Given the description of an element on the screen output the (x, y) to click on. 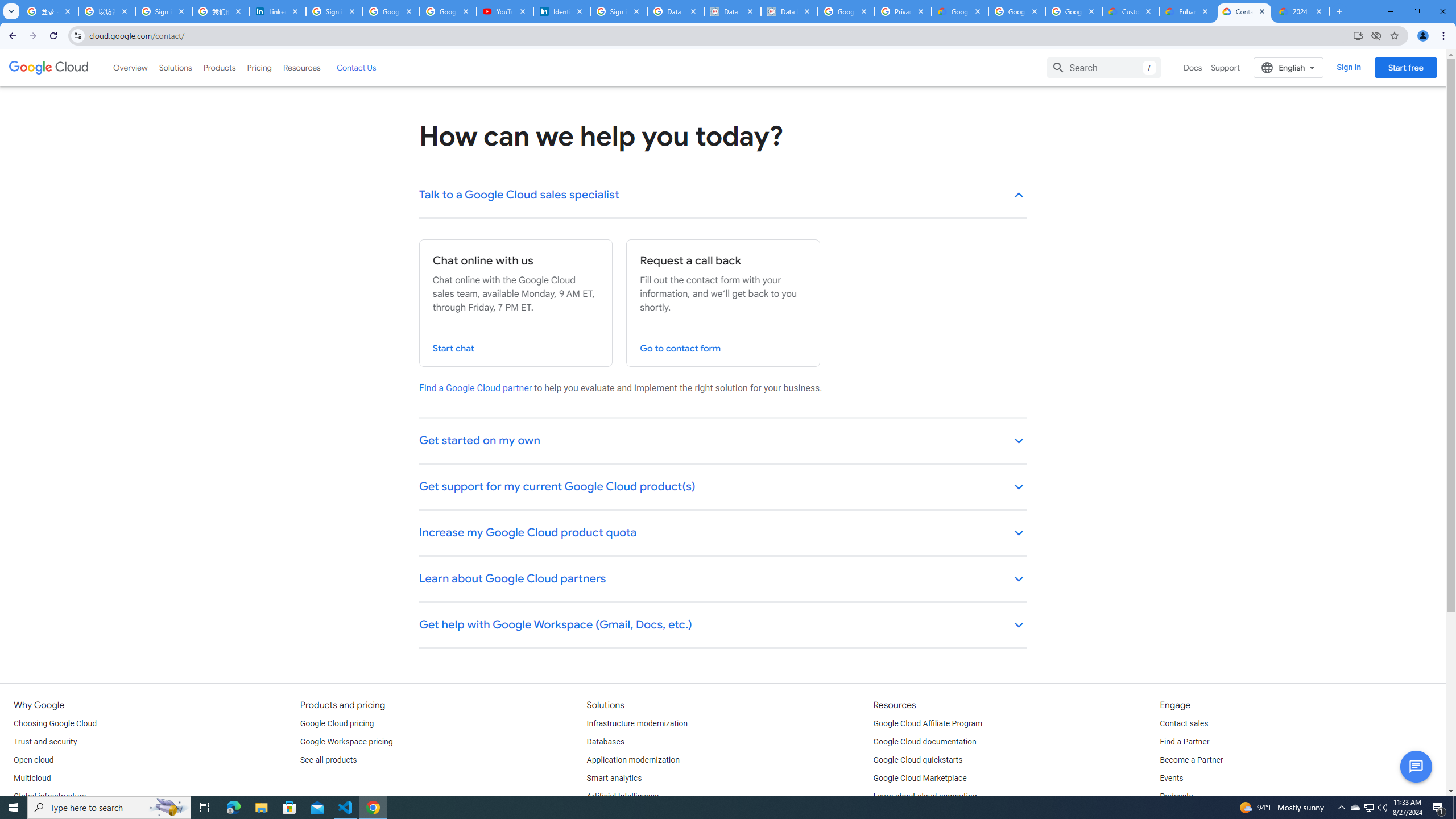
Increase my Google Cloud product quota keyboard_arrow_down (723, 533)
Sign in - Google Accounts (163, 11)
English (1288, 67)
Get started on my own keyboard_arrow_down (723, 441)
Google Cloud pricing (336, 723)
Learn about Google Cloud partners keyboard_arrow_down (723, 579)
Google Cloud Marketplace (919, 778)
Find a Partner (1183, 742)
